Given the description of an element on the screen output the (x, y) to click on. 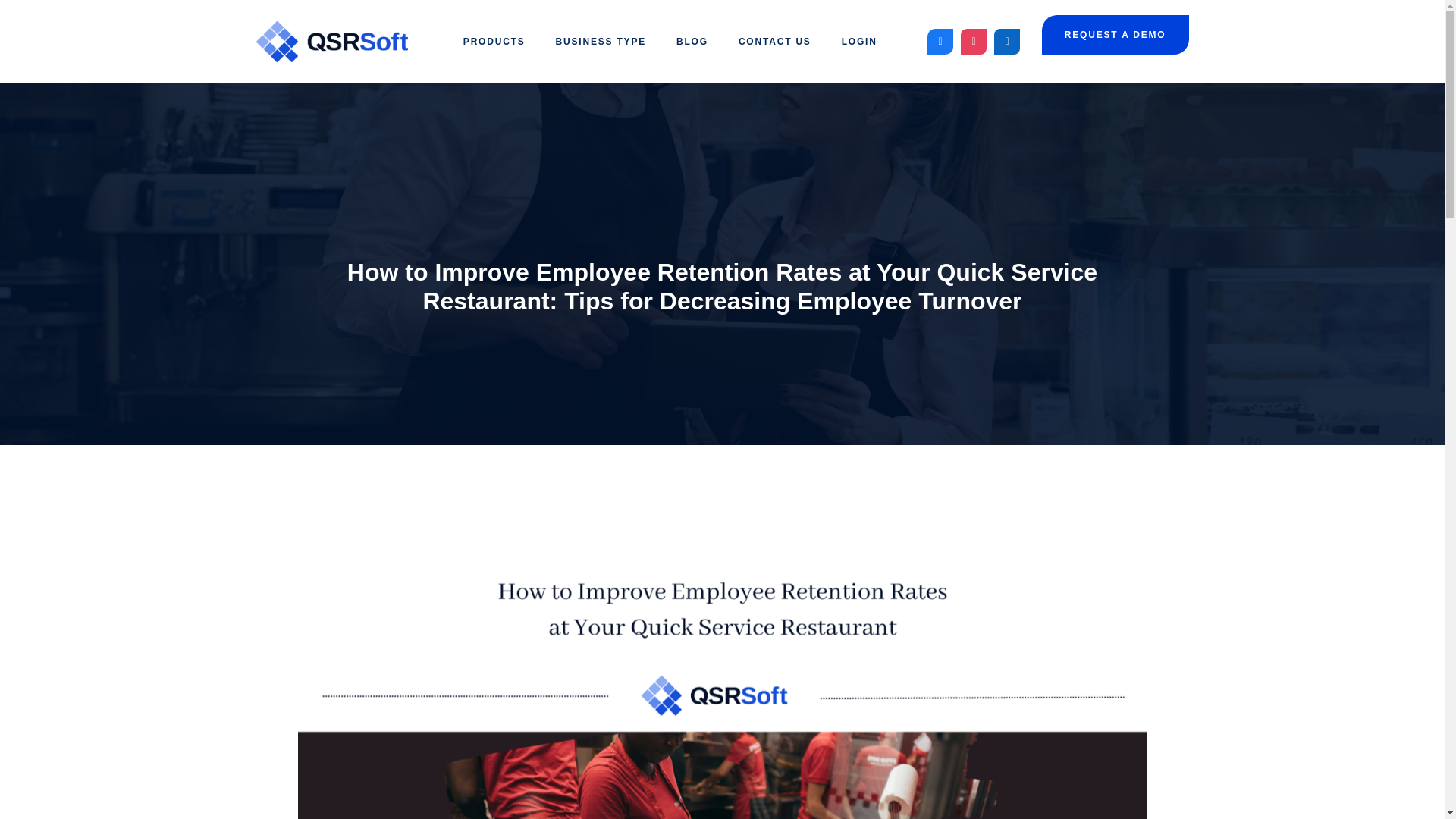
BLOG (692, 41)
PRODUCTS (494, 41)
CONTACT US (775, 41)
LOGIN (859, 41)
REQUEST A DEMO (1115, 34)
BUSINESS TYPE (600, 41)
